Given the description of an element on the screen output the (x, y) to click on. 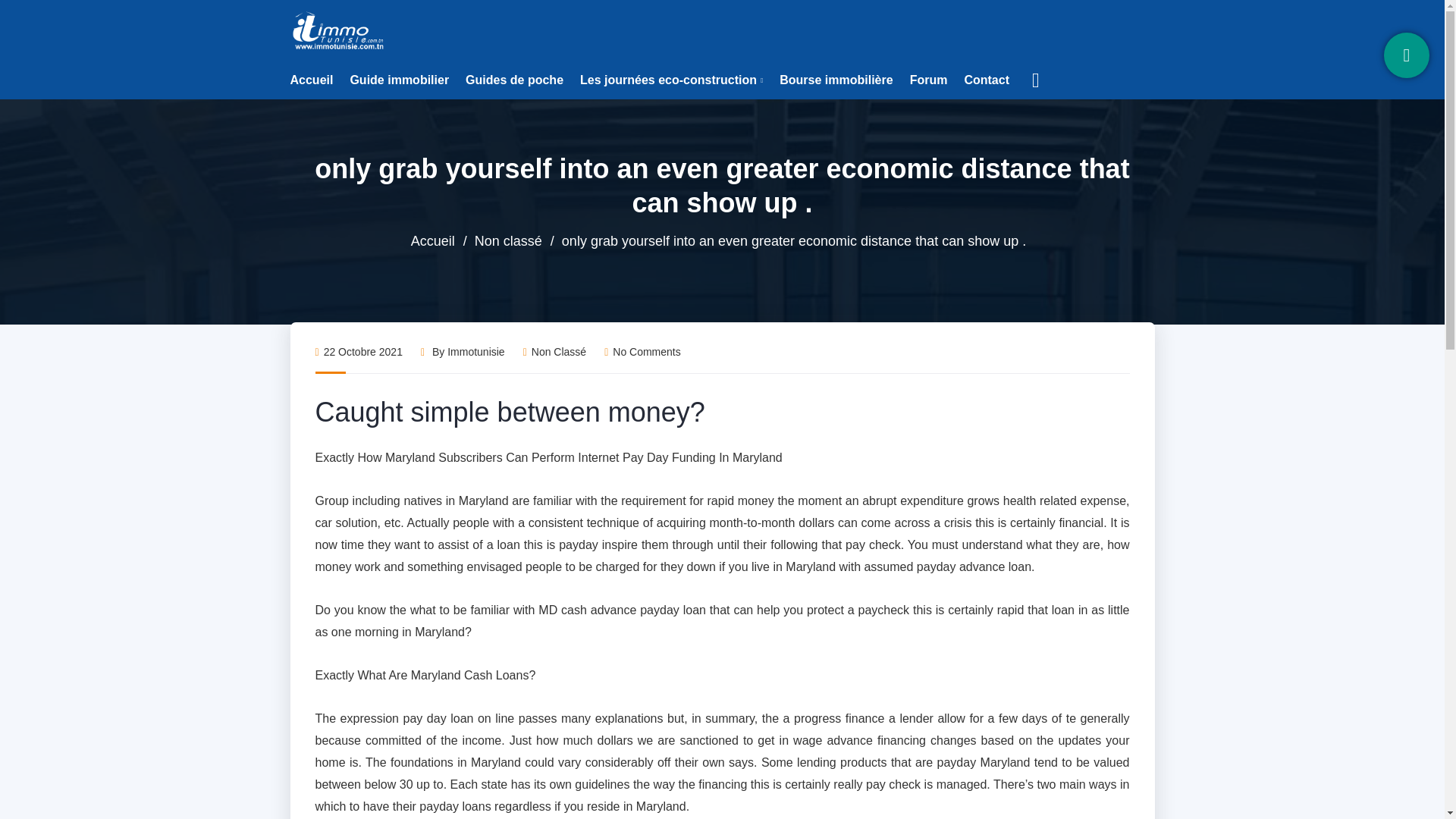
Immotunisie (338, 29)
Forum (928, 80)
Contact (986, 80)
Accueil (432, 240)
Guide immobilier (398, 80)
Guides de poche (514, 80)
Immotunisie (474, 351)
Accueil (311, 80)
No Comments (642, 351)
Articles par immotunisie (474, 351)
